Given the description of an element on the screen output the (x, y) to click on. 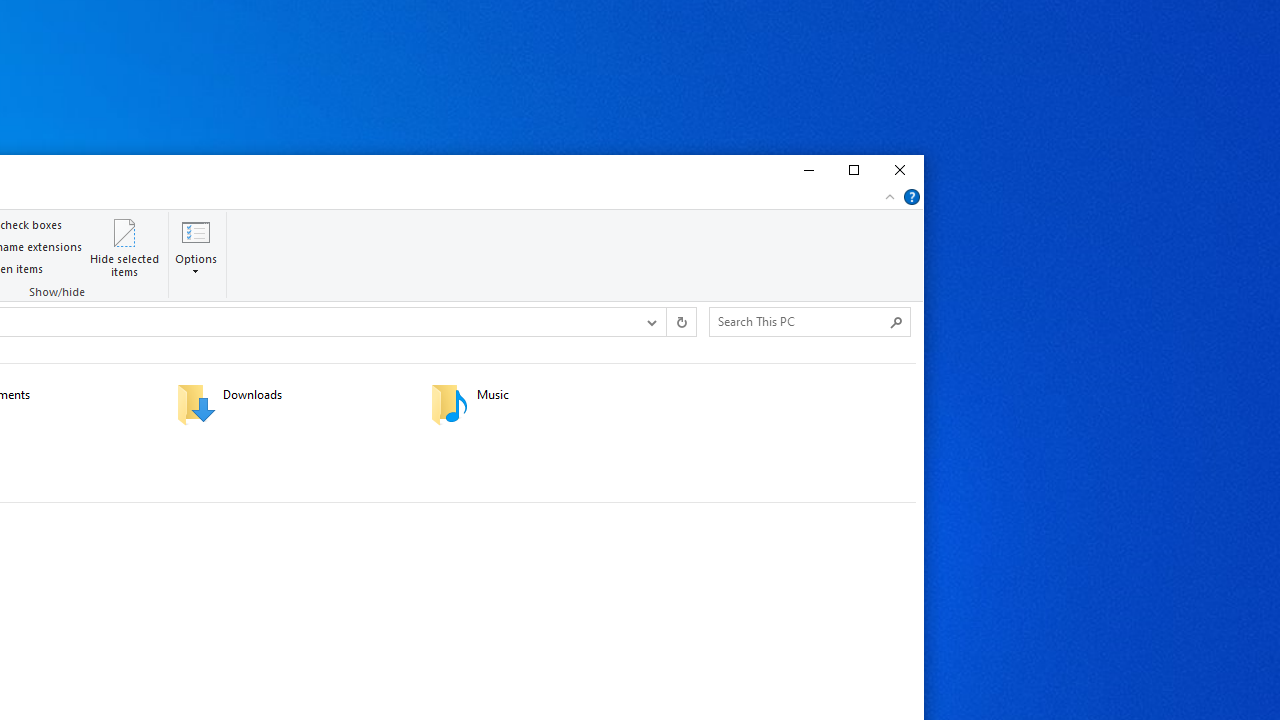
Maximize (853, 170)
Search Box (799, 321)
Downloads (291, 403)
Minimize (806, 170)
Name (569, 395)
Hide selected items (125, 246)
Help (911, 196)
Music (544, 403)
Options (196, 264)
Previous Locations (650, 321)
Refresh "This PC" (F5) (680, 321)
Search (896, 321)
Close (900, 170)
Minimize the Ribbon (890, 196)
